Given the description of an element on the screen output the (x, y) to click on. 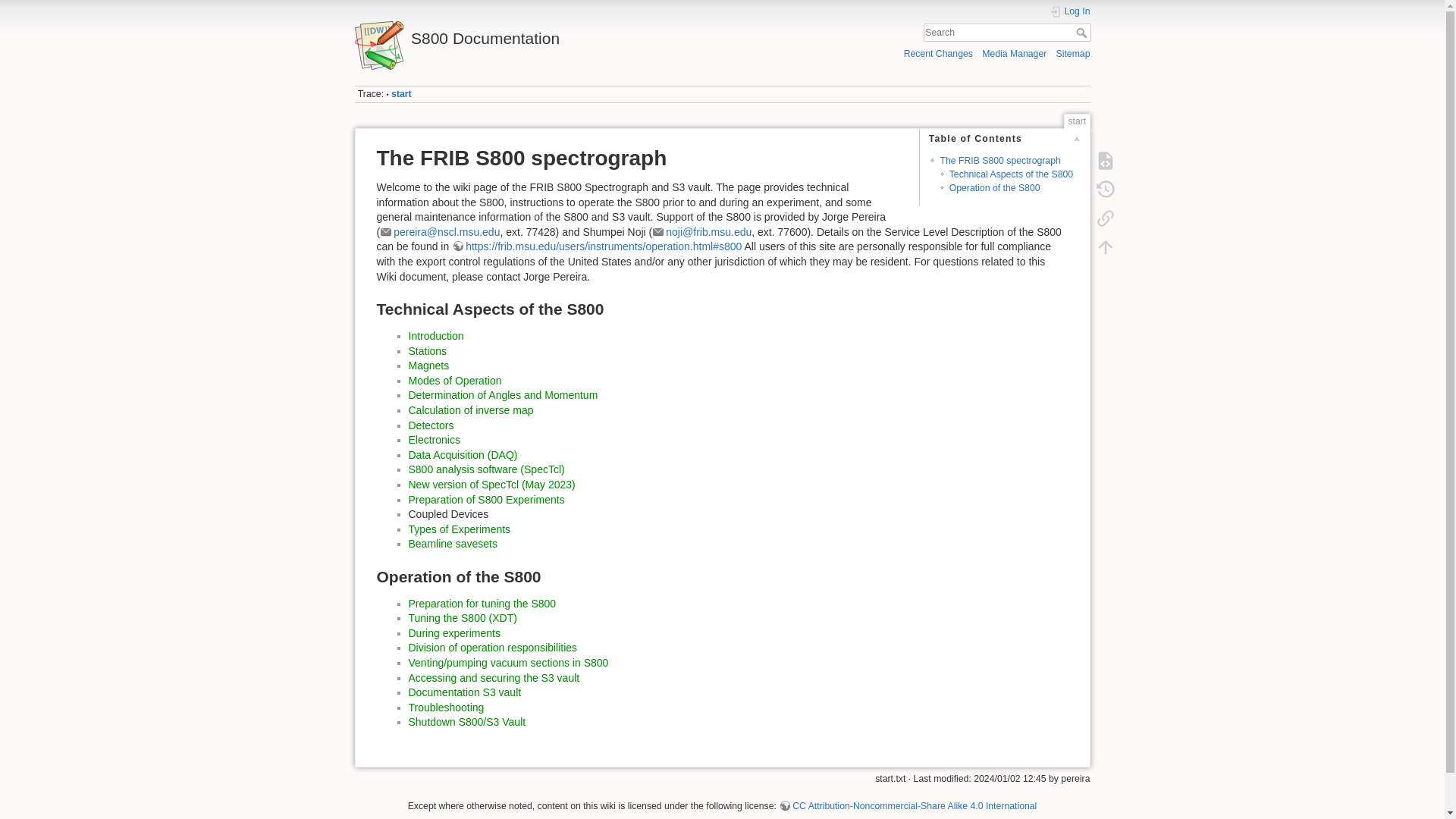
Magnets (427, 365)
During experiments (453, 633)
Technical Aspects of the S800 (1011, 173)
Stations (426, 350)
start (401, 93)
Accessing and securing the S3 vault (493, 677)
Preparation of S800 Experiments (485, 499)
Sitemap (1073, 53)
Log In (1069, 11)
Introduction (435, 336)
Documentation S3 vault (464, 692)
Beamline savesets (452, 543)
The FRIB S800 spectrograph (999, 160)
Modes of Operation (453, 380)
Preparation for tuning the S800 (481, 603)
